Given the description of an element on the screen output the (x, y) to click on. 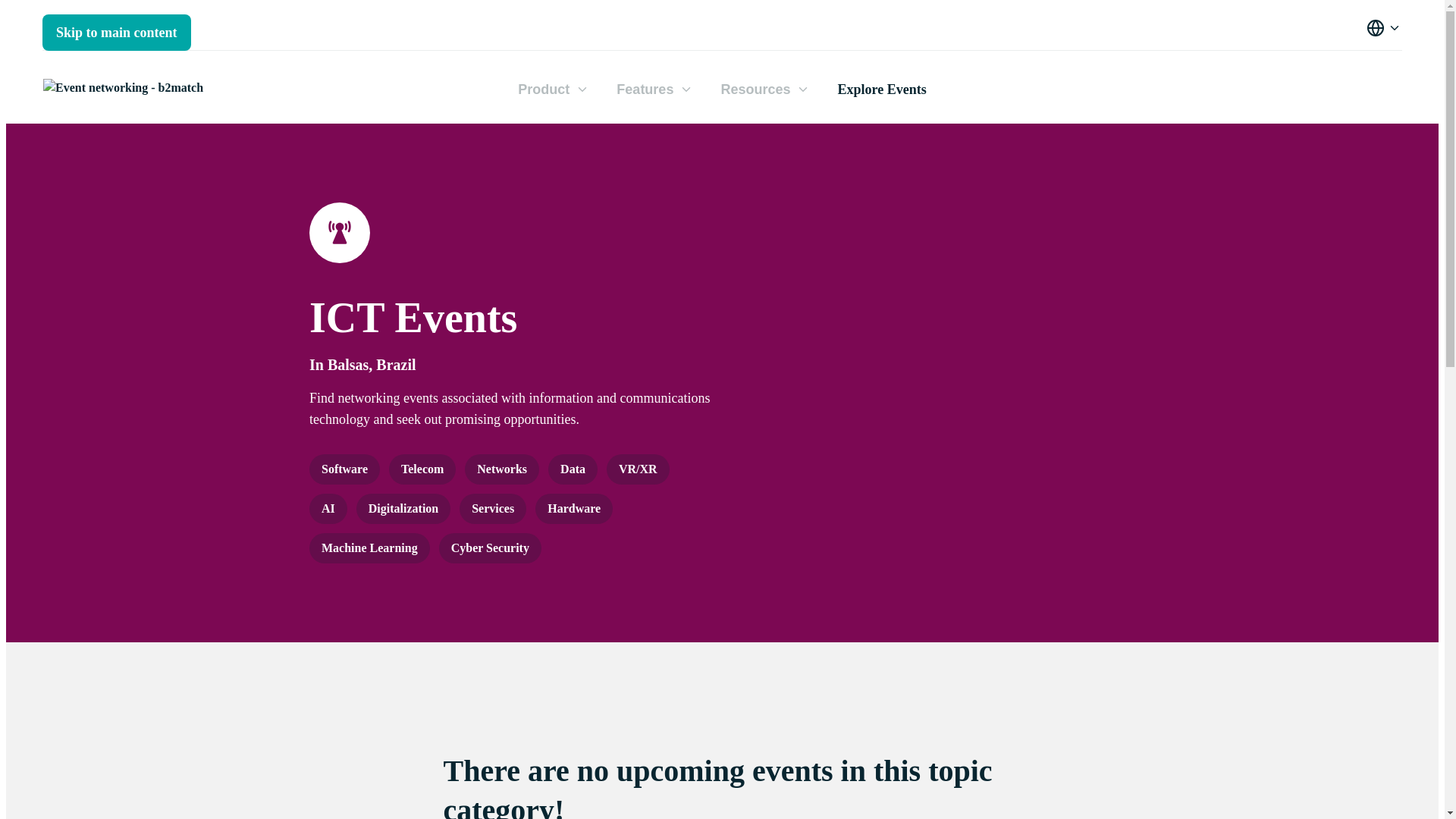
Features (652, 90)
Event networking - b2match (122, 86)
Explore Events (881, 90)
Product (551, 90)
Resources (763, 90)
Organizer Login (88, 25)
Skip to main content (116, 32)
